Given the description of an element on the screen output the (x, y) to click on. 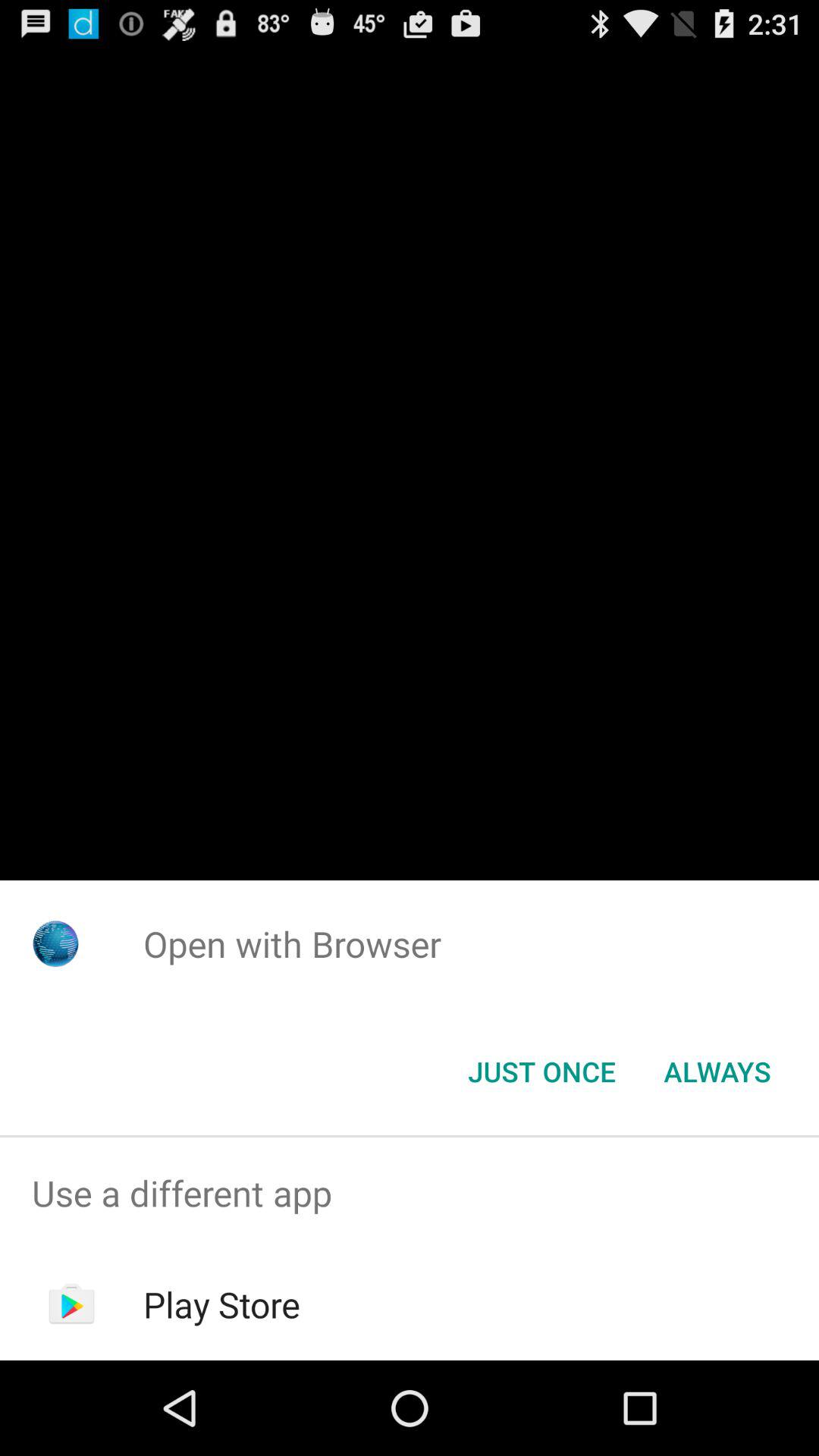
swipe until play store item (221, 1304)
